Given the description of an element on the screen output the (x, y) to click on. 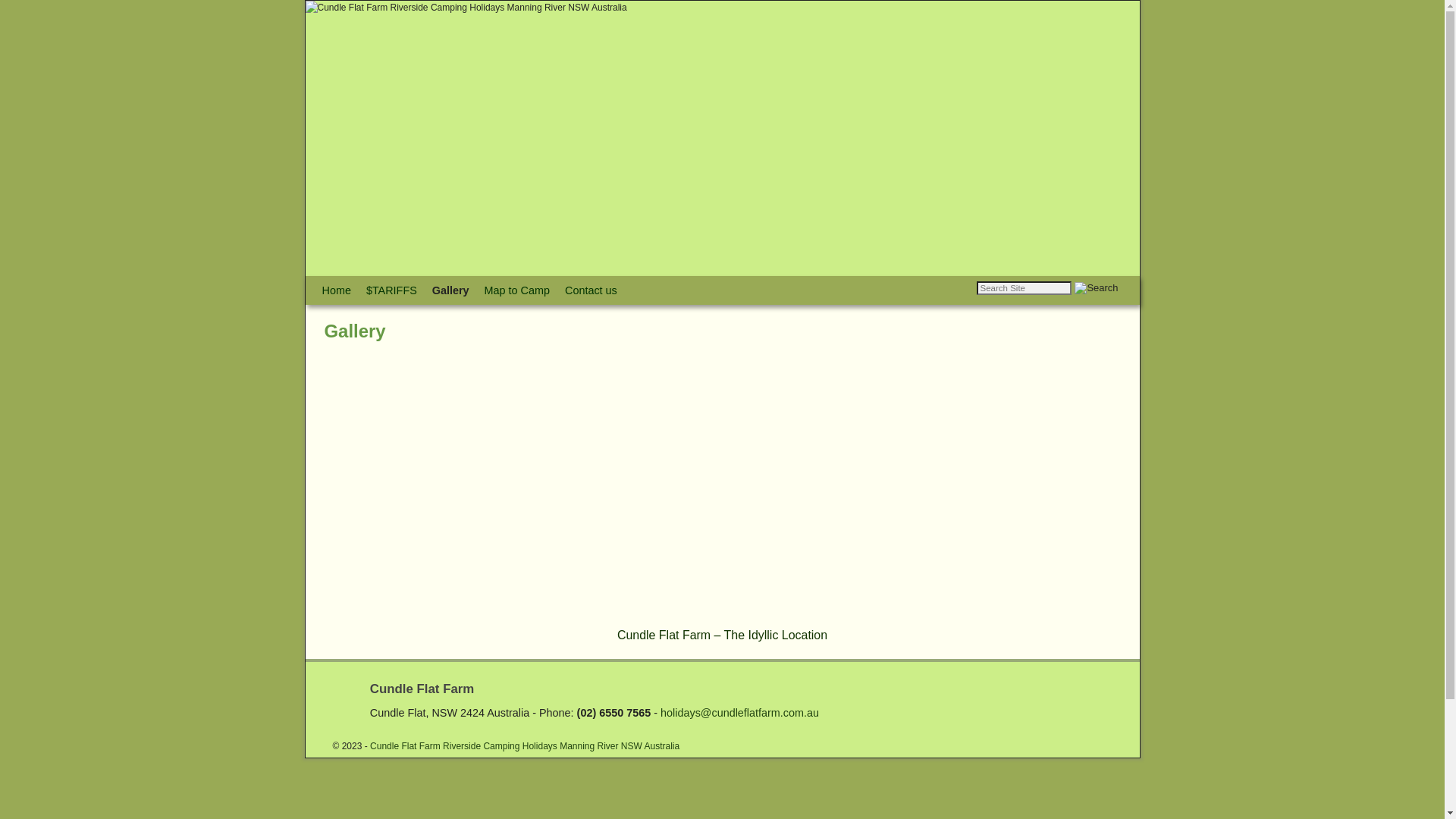
Contact us Element type: text (590, 290)
Skip to secondary content Element type: text (356, 282)
Home Element type: text (335, 290)
Skip to primary content Element type: text (351, 282)
Map to Camp Element type: text (516, 290)
$TARIFFS Element type: text (391, 290)
Gallery Element type: text (450, 290)
holidays@cundleflatfarm.com.au Element type: text (739, 712)
